Given the description of an element on the screen output the (x, y) to click on. 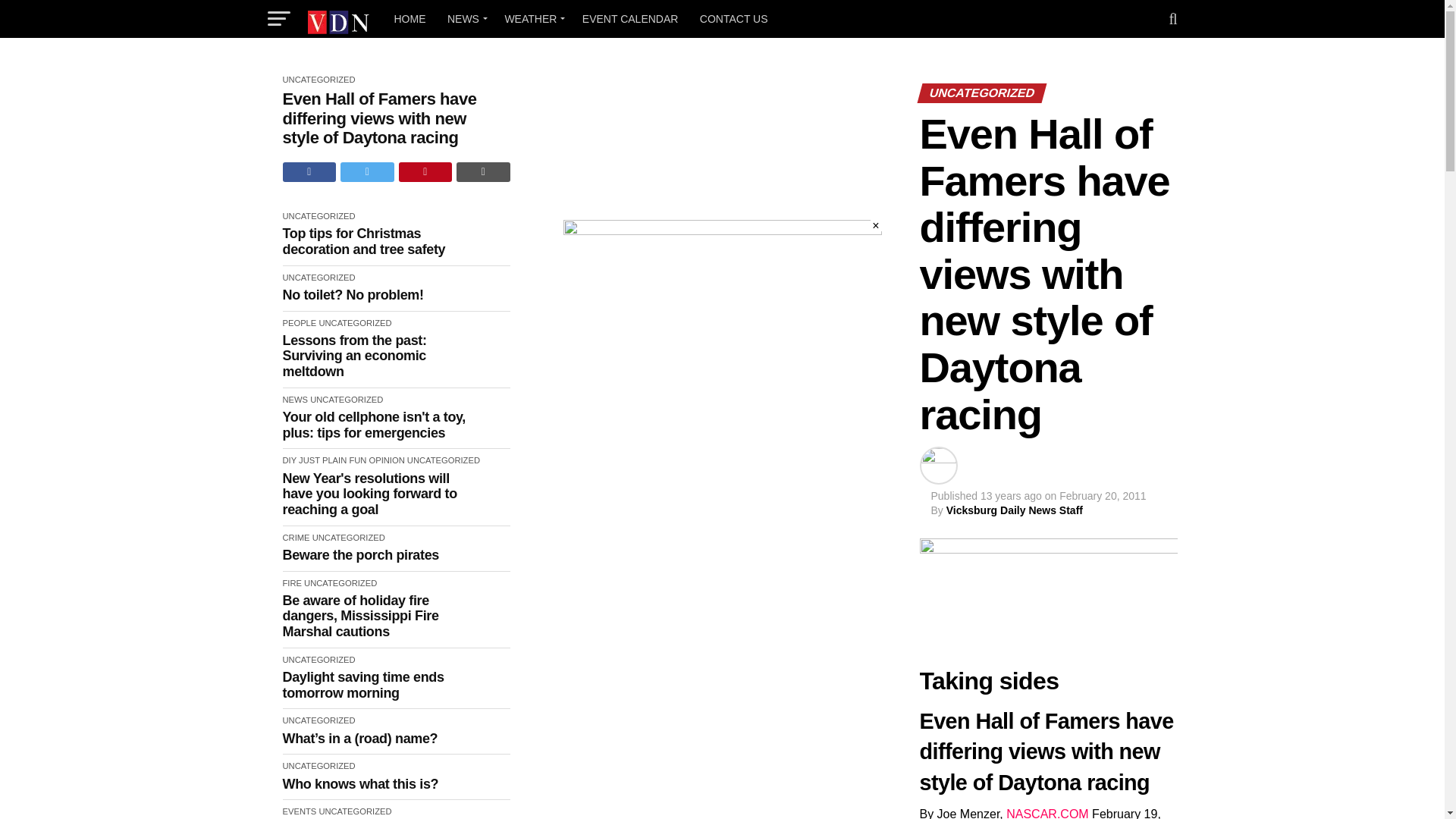
Pin This Post (425, 171)
Tweet This Post (367, 171)
UNCATEGORIZED (318, 79)
NEWS (465, 18)
WEATHER (532, 18)
Share on Facebook (309, 171)
HOME (410, 18)
CONTACT US (733, 18)
EVENT CALENDAR (630, 18)
